Given the description of an element on the screen output the (x, y) to click on. 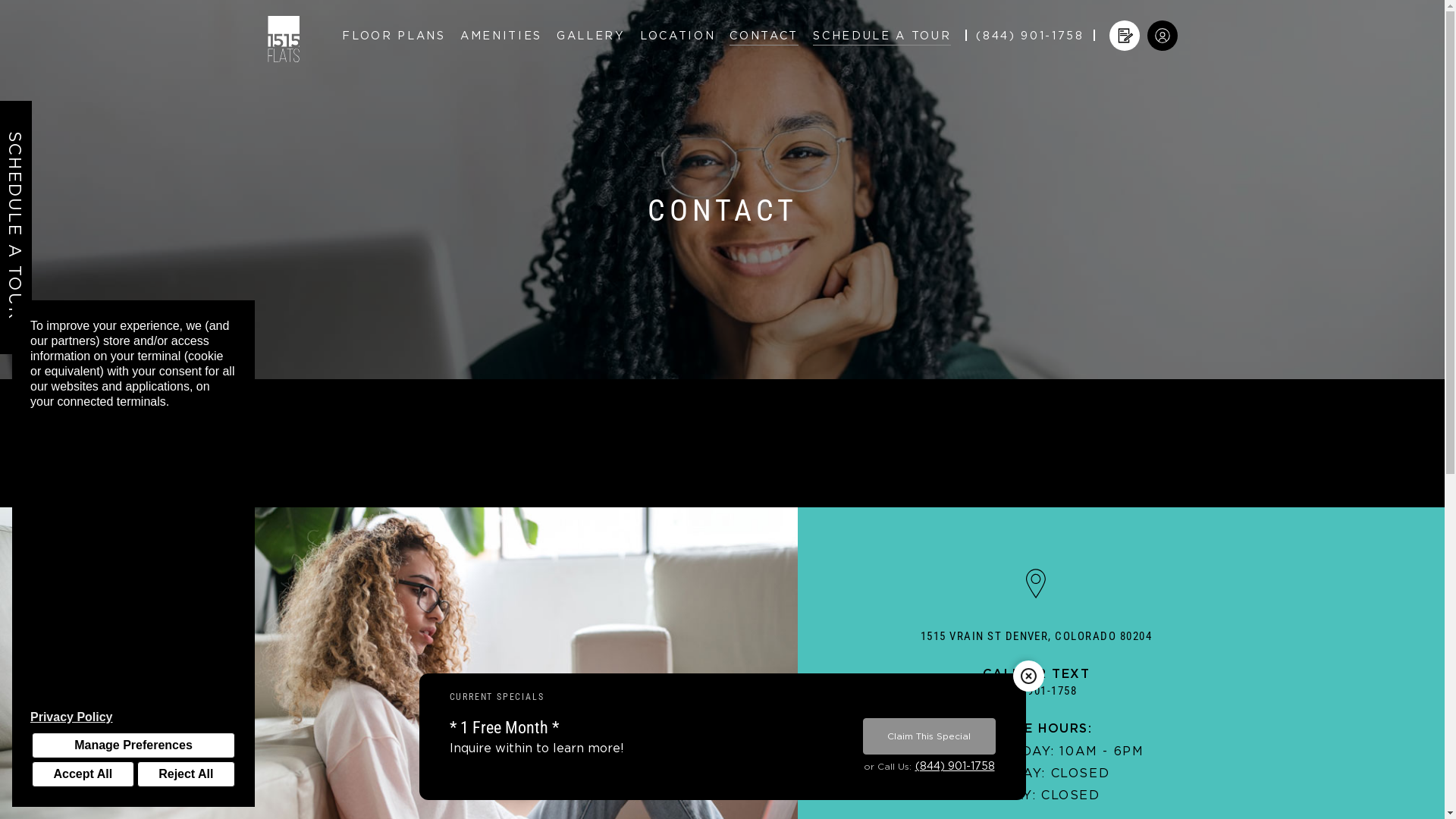
CONTACT Element type: text (763, 36)
AMENITIES Element type: text (501, 36)
1515 VRAIN ST DENVER, COLORADO 80204 Element type: text (1035, 636)
GALLERY Element type: text (590, 36)
(844) 901-1758 Element type: text (954, 766)
Claim This Special Element type: text (928, 736)
(844) 901-1758 Element type: text (1029, 36)
CONTACT US Element type: text (721, 456)
LOCATION Element type: text (677, 36)
SCHEDULE A TOUR Element type: text (15, 227)
Accept All Element type: text (82, 774)
SCHEDULE A TOUR Element type: text (881, 36)
Privacy Policy Element type: text (133, 716)
Manage Preferences Element type: text (133, 745)
(844) 901-1758 Element type: text (1036, 691)
Reject All Element type: text (186, 774)
FLOOR PLANS Element type: text (393, 36)
